Given the description of an element on the screen output the (x, y) to click on. 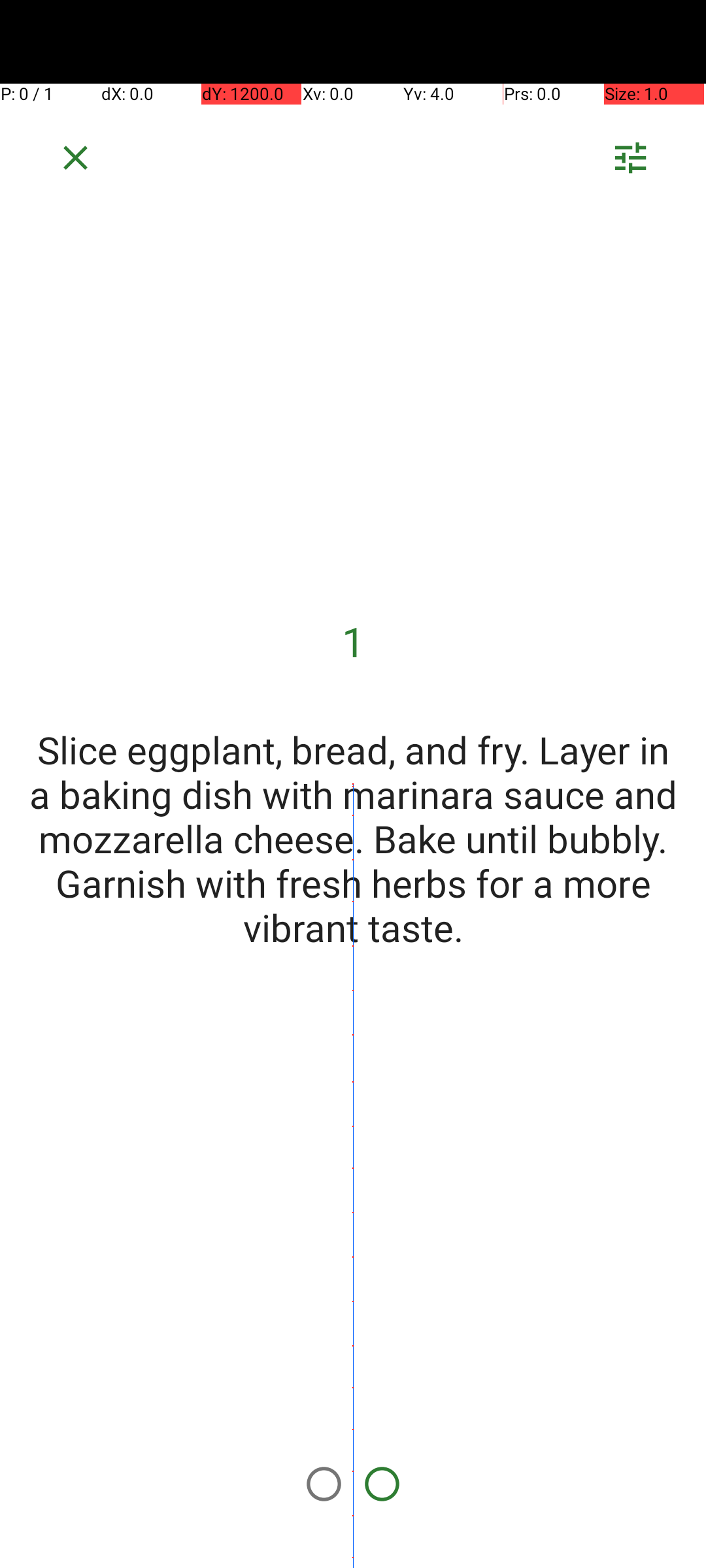
Slice eggplant, bread, and fry. Layer in a baking dish with marinara sauce and mozzarella cheese. Bake until bubbly. Garnish with fresh herbs for a more vibrant taste. Element type: android.widget.TextView (352, 837)
